Given the description of an element on the screen output the (x, y) to click on. 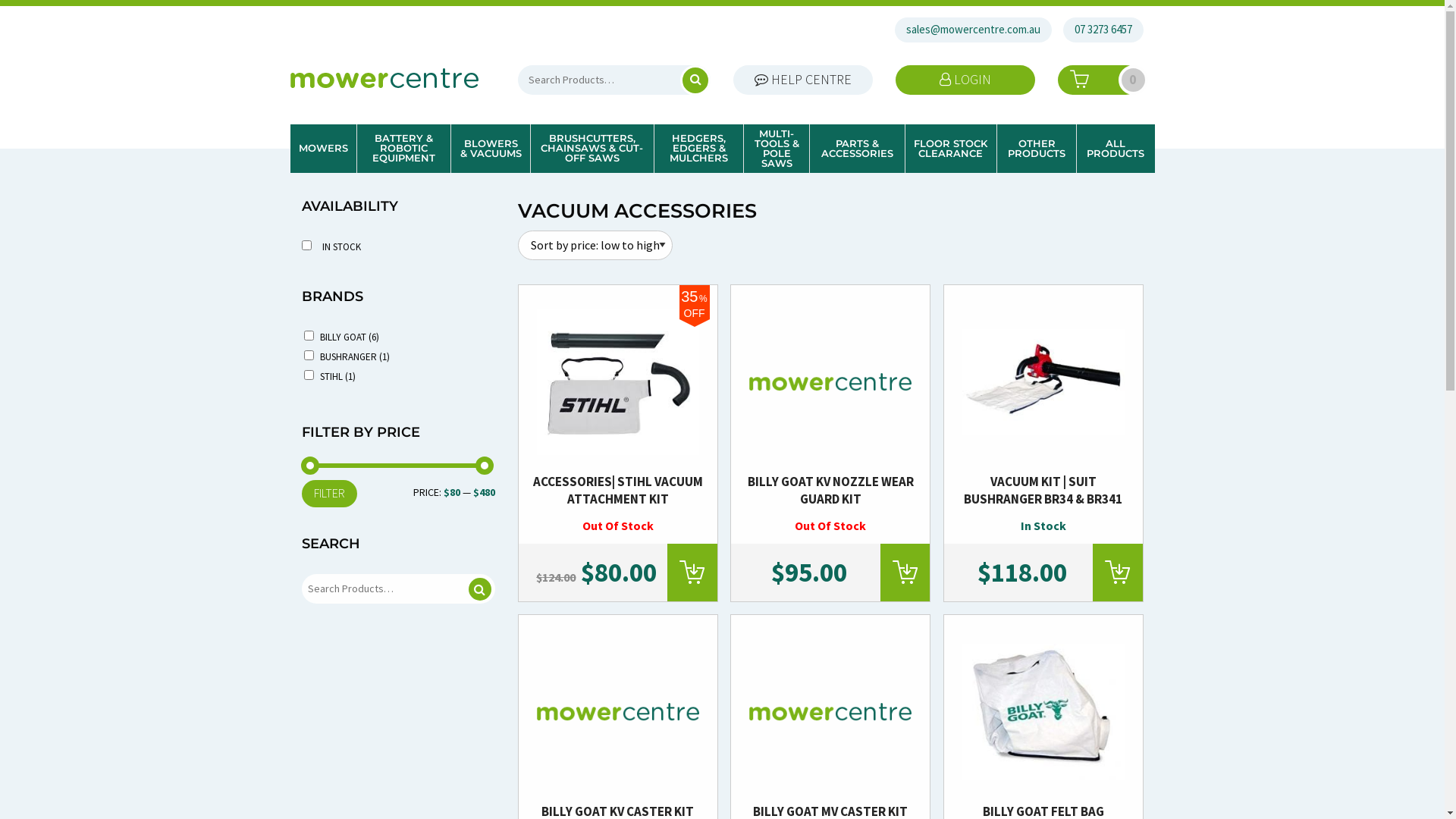
FLOOR STOCK CLEARANCE Element type: text (950, 148)
Mower Centre Logo Element type: hover (383, 77)
Search Element type: text (479, 588)
FILTER Element type: text (329, 493)
HEDGERS, EDGERS & MULCHERS Element type: text (698, 148)
LOGIN Element type: text (965, 79)
Search for: Element type: hover (398, 588)
ALL PRODUCTS Element type: text (1115, 148)
BRUSHCUTTERS, CHAINSAWS & CUT-OFF SAWS Element type: text (591, 148)
Search Element type: text (682, 79)
Search for: Element type: hover (613, 79)
sales@mowercentre.com.au Element type: text (972, 29)
OTHER PRODUCTS Element type: text (1036, 148)
MULTI-TOOLS & POLE SAWS Element type: text (776, 148)
PARTS & ACCESSORIES Element type: text (856, 148)
BILLY GOAT KV NOZZLE WEAR GUARD KIT
Out Of Stock
$95.00 Element type: text (830, 446)
BATTERY & ROBOTIC EQUIPMENT Element type: text (403, 148)
VACUUM KIT | SUIT BUSHRANGER BR34 & BR341
In Stock
$118.00 Element type: text (1042, 446)
HELP CENTRE Element type: text (802, 79)
MOWERS Element type: text (322, 148)
BLOWERS & VACUUMS Element type: text (490, 148)
0 Element type: text (1098, 79)
